Given the description of an element on the screen output the (x, y) to click on. 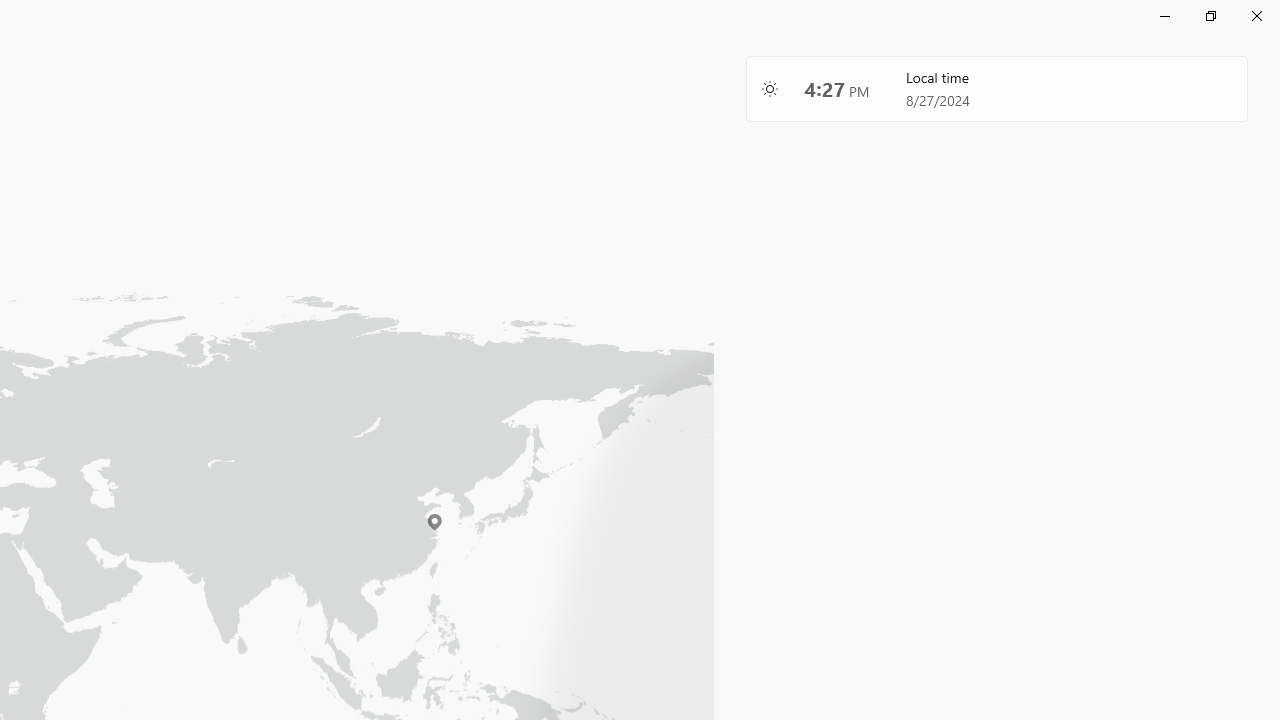
Close Clock (1256, 15)
Restore Clock (1210, 15)
Minimize Clock (1164, 15)
